Given the description of an element on the screen output the (x, y) to click on. 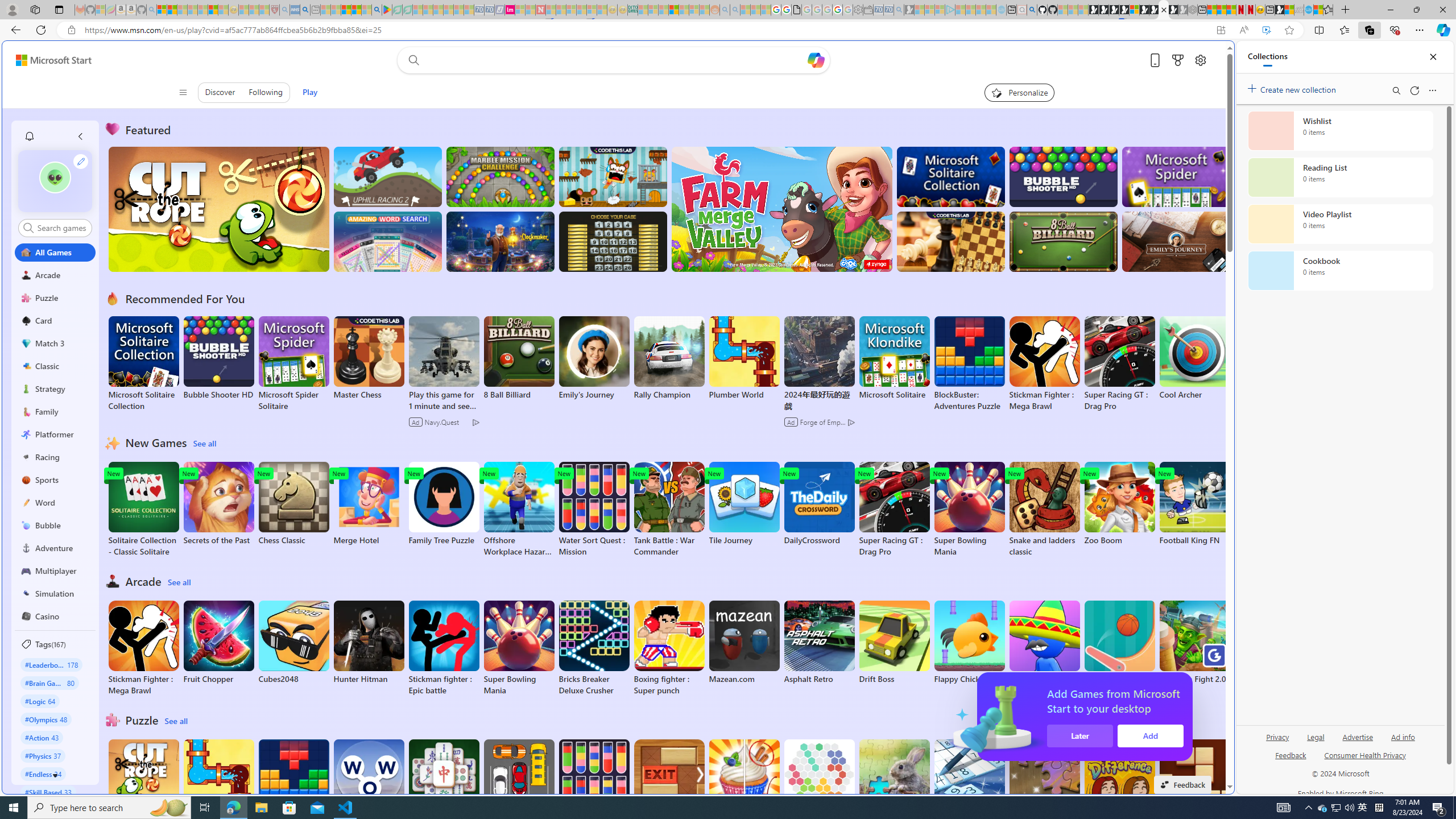
Later (1223, 736)
Pinball Basketball (1119, 642)
Video Playlist collection, 0 items (1339, 223)
Chess Classic (293, 503)
Microsoft Solitaire Collection (143, 363)
Kingdom Fight 2.0 (1194, 642)
Boxing fighter : Super punch (668, 648)
Enter your search term (617, 59)
Class: ad-choice  ad-choice-mono  (850, 422)
